Given the description of an element on the screen output the (x, y) to click on. 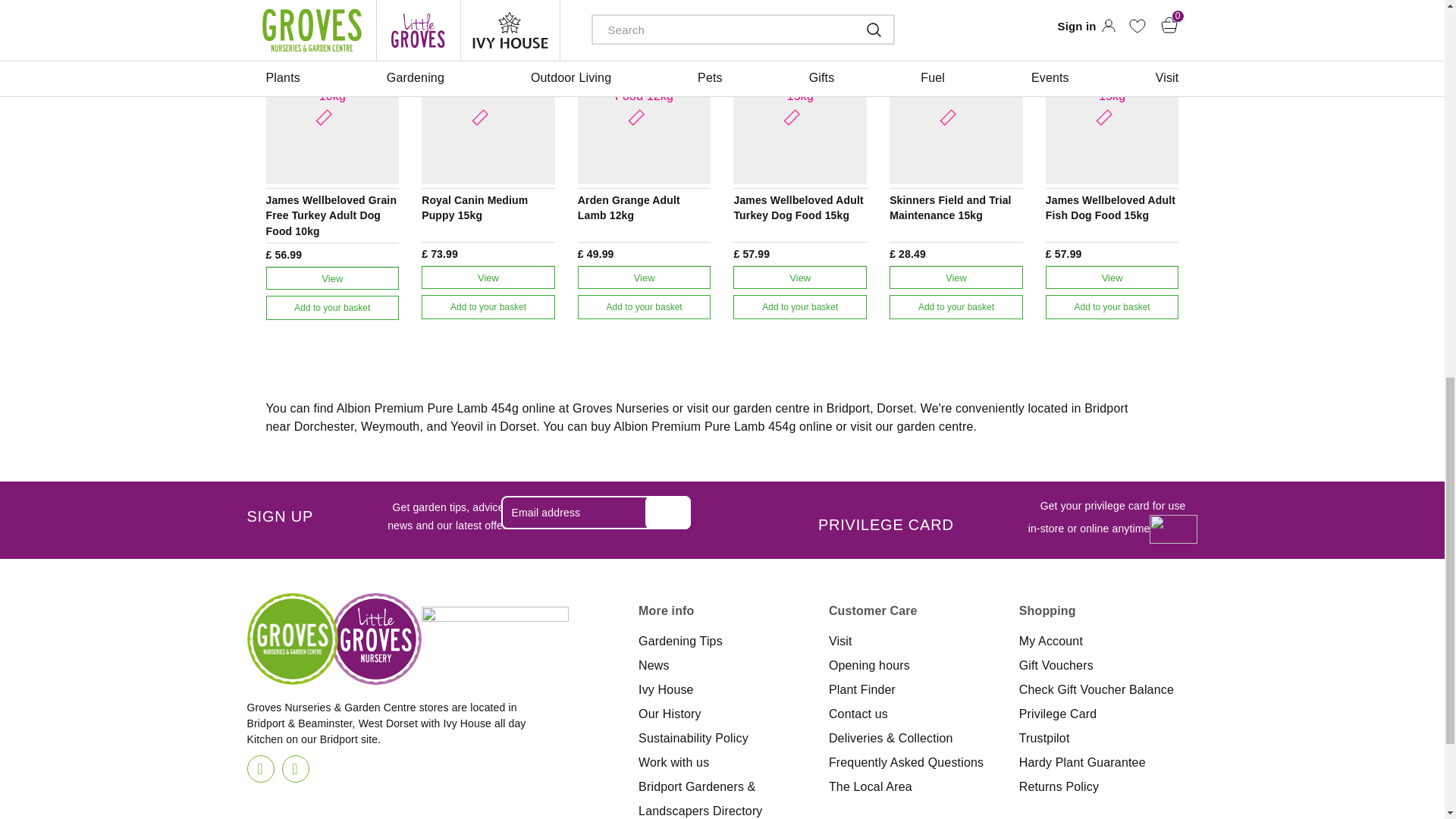
Send Message (667, 512)
